Given the description of an element on the screen output the (x, y) to click on. 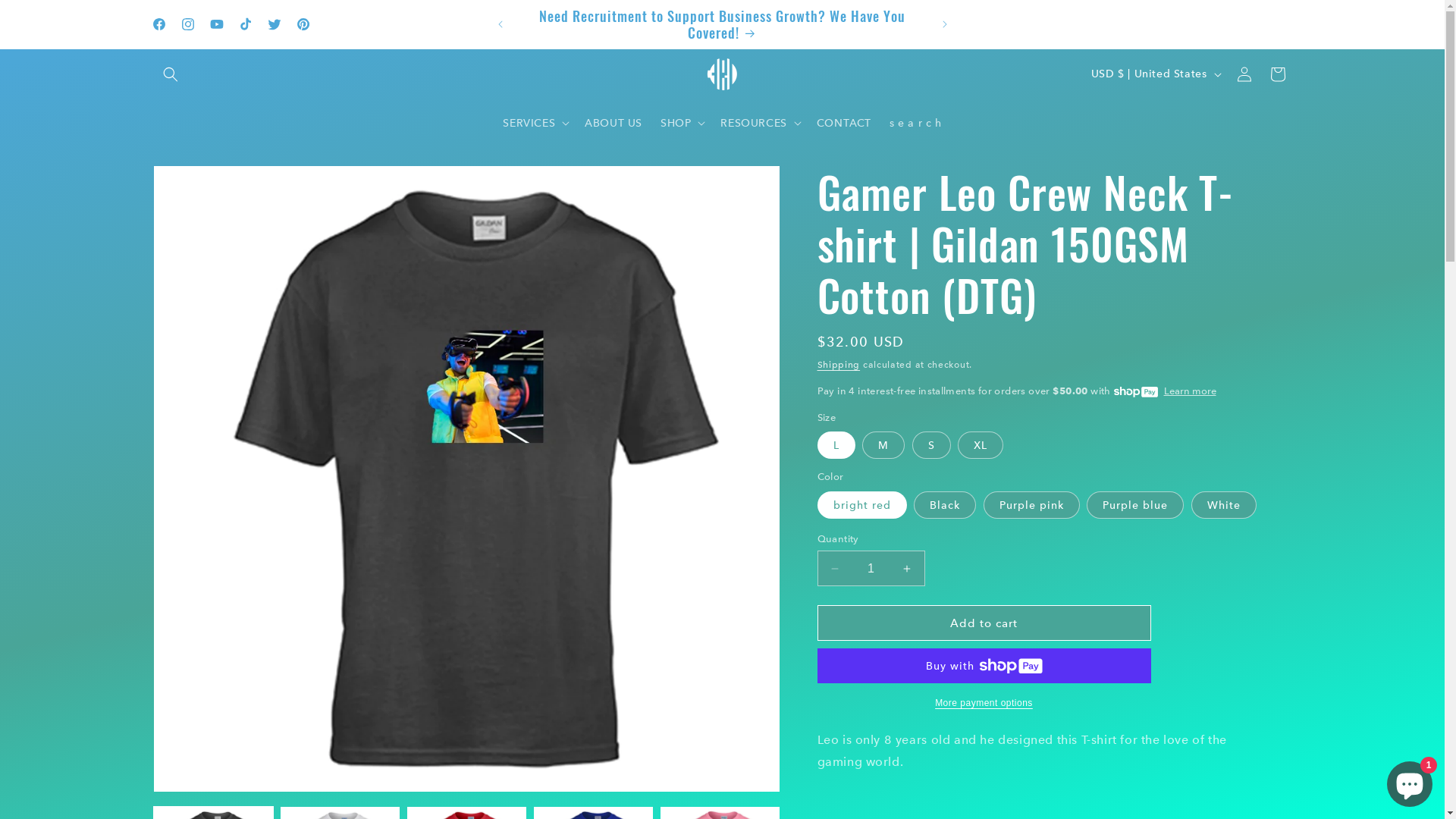
s e a r c h Element type: text (915, 122)
Cart Element type: text (1276, 74)
Add to cart Element type: text (984, 622)
TikTok Element type: text (244, 23)
Instagram Element type: text (186, 23)
Shipping Element type: text (838, 364)
Shopify online store chat Element type: hover (1409, 780)
CONTACT Element type: text (843, 122)
Log in Element type: text (1243, 74)
ABOUT US Element type: text (613, 122)
YouTube Element type: text (215, 23)
Pinterest Element type: text (302, 23)
Twitter Element type: text (273, 23)
More payment options Element type: text (984, 702)
Skip to product information Element type: text (199, 182)
Facebook Element type: text (158, 23)
USD $ | United States Element type: text (1154, 73)
